Given the description of an element on the screen output the (x, y) to click on. 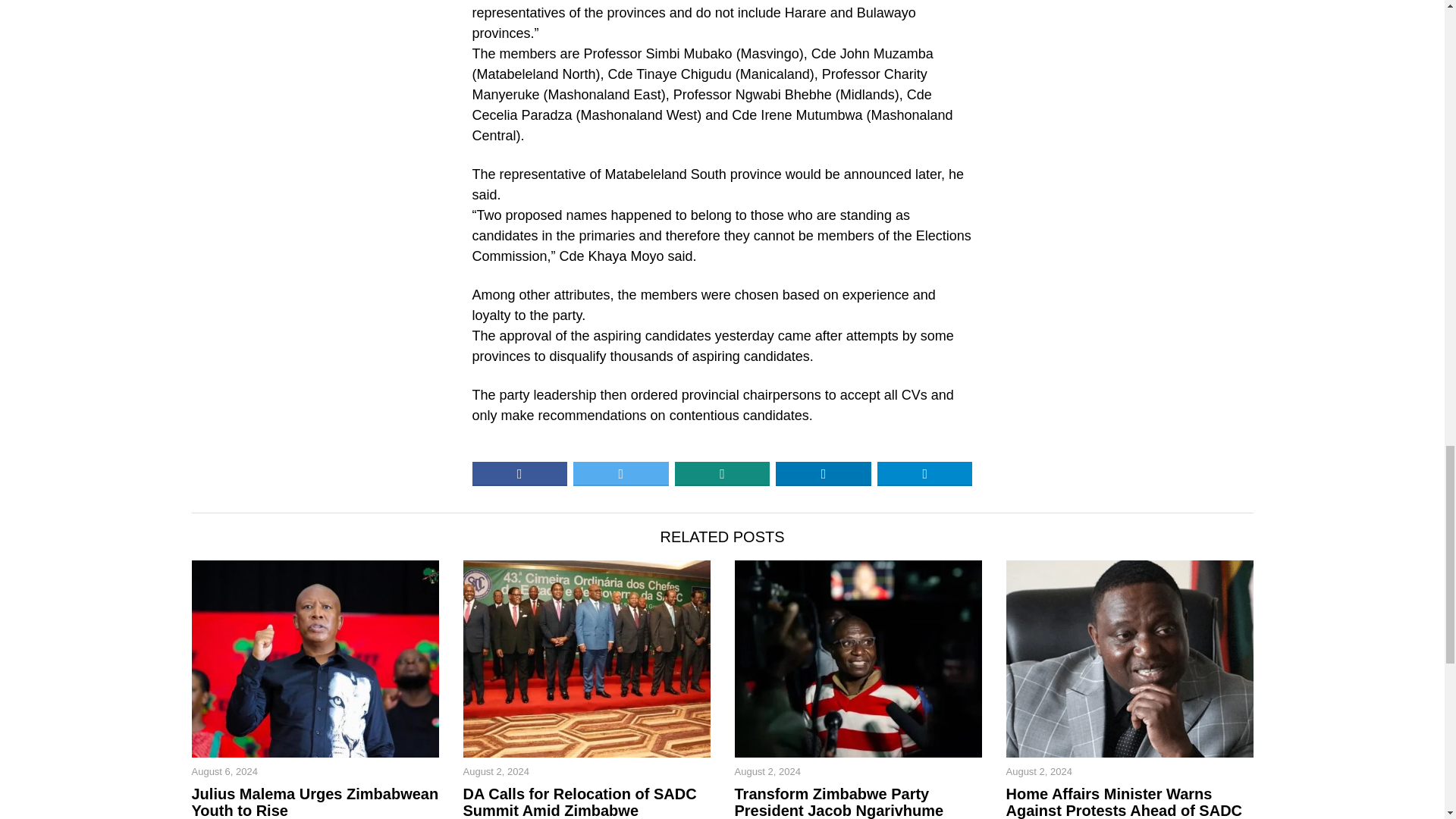
02 Aug, 2024 20:57:19 (495, 771)
06 Aug, 2024 14:10:02 (223, 771)
02 Aug, 2024 17:06:24 (766, 771)
Julius Malema Urges Zimbabwean Youth to Rise (314, 802)
